Given the description of an element on the screen output the (x, y) to click on. 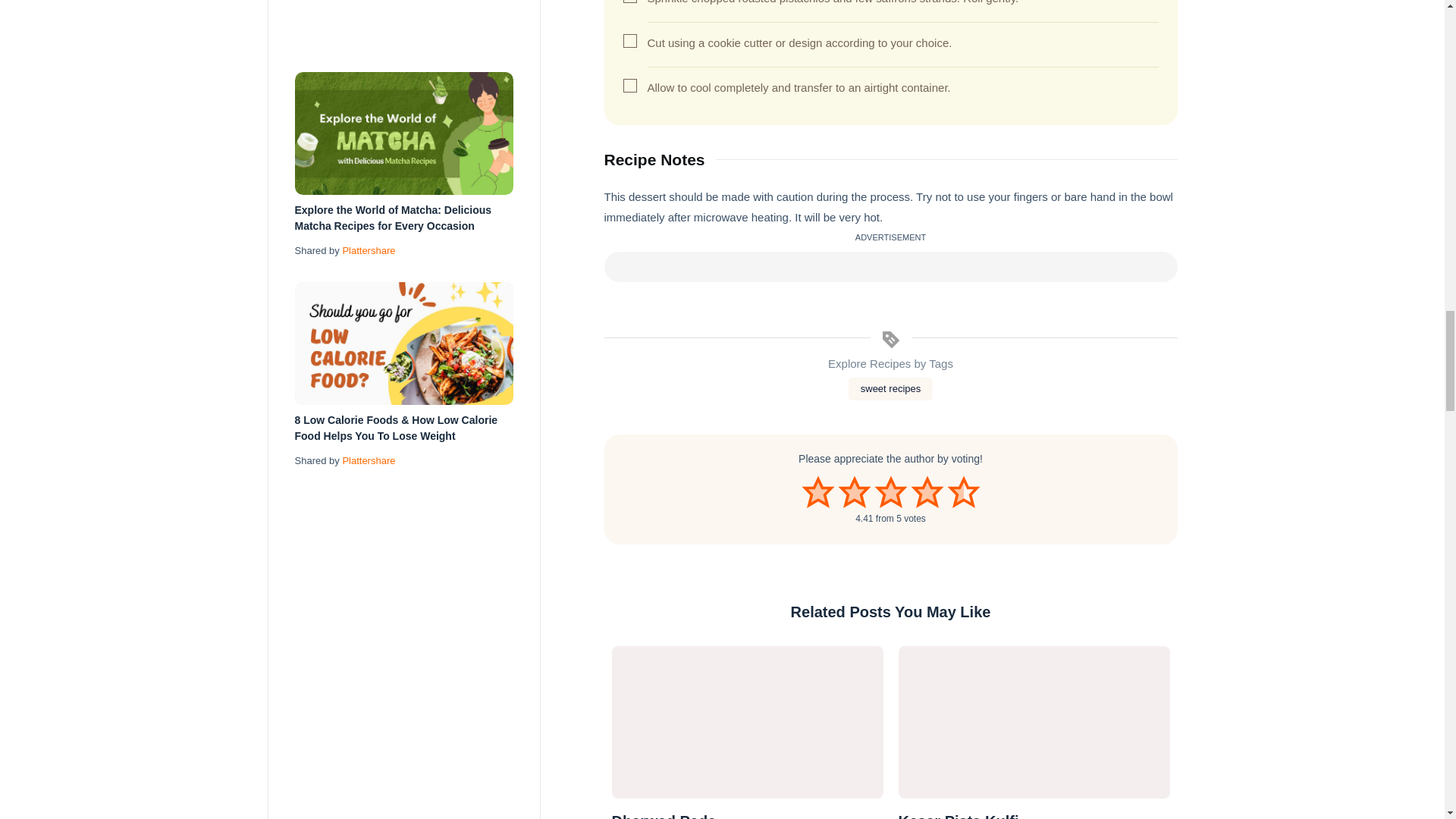
Dharwad Peda (746, 722)
Kesar Pista Kulfi (1033, 814)
Kesar Pista Kulfi (1033, 722)
sweet recipes (890, 388)
Dharwad Peda (746, 814)
